Given the description of an element on the screen output the (x, y) to click on. 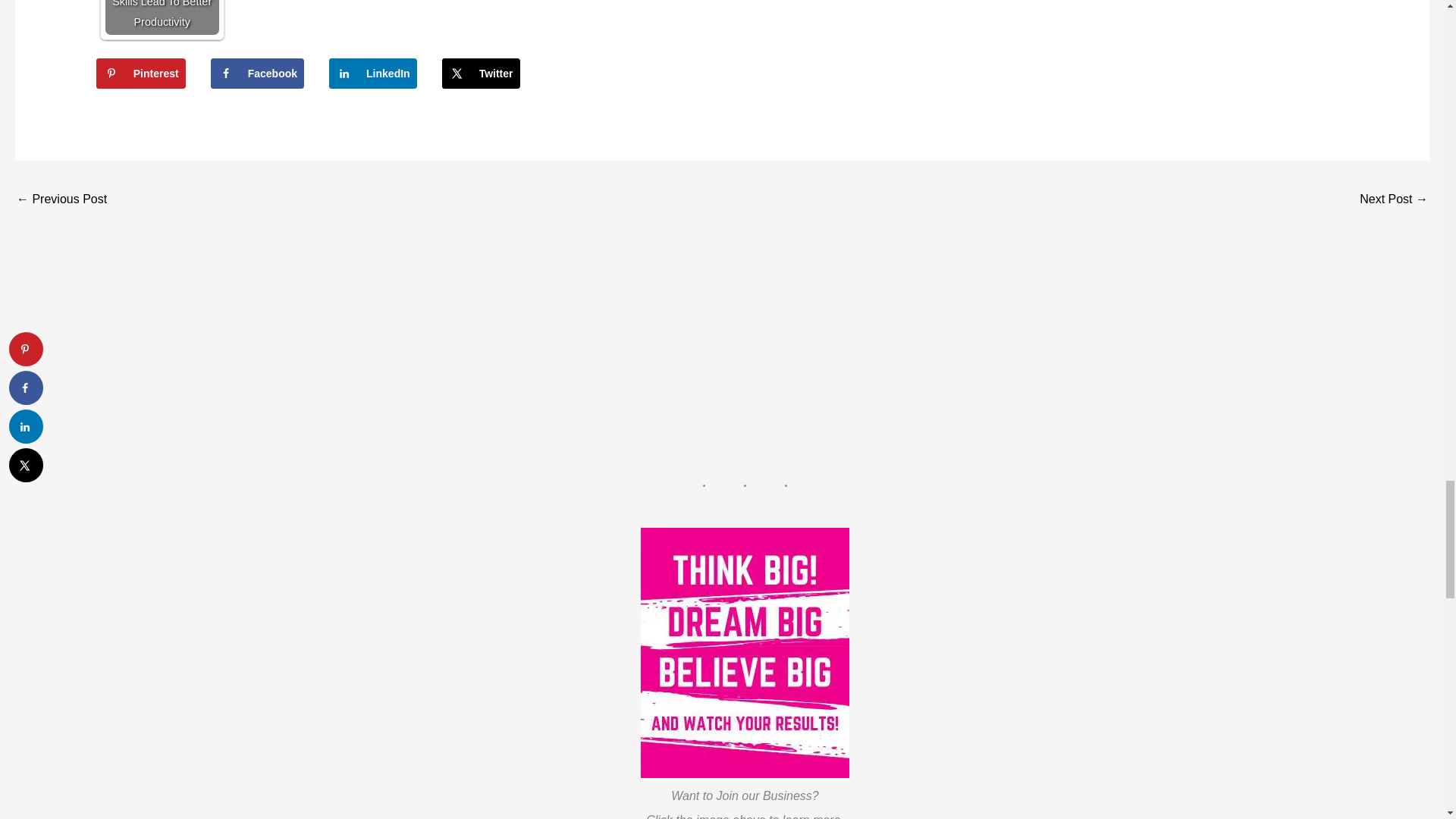
Share on X (480, 73)
Share on Facebook (257, 73)
Pinterest (141, 73)
Save to Pinterest (141, 73)
LinkedIn (372, 73)
Welcome to my Blog (61, 200)
Better Organization Skills Lead To Better Productivity (161, 17)
Share on LinkedIn (372, 73)
Better Organization Skills Lead To Better Productivity (161, 17)
Twitter (480, 73)
Network Mktg Mastermind Event - Day 2 (1393, 200)
Facebook (257, 73)
